Given the description of an element on the screen output the (x, y) to click on. 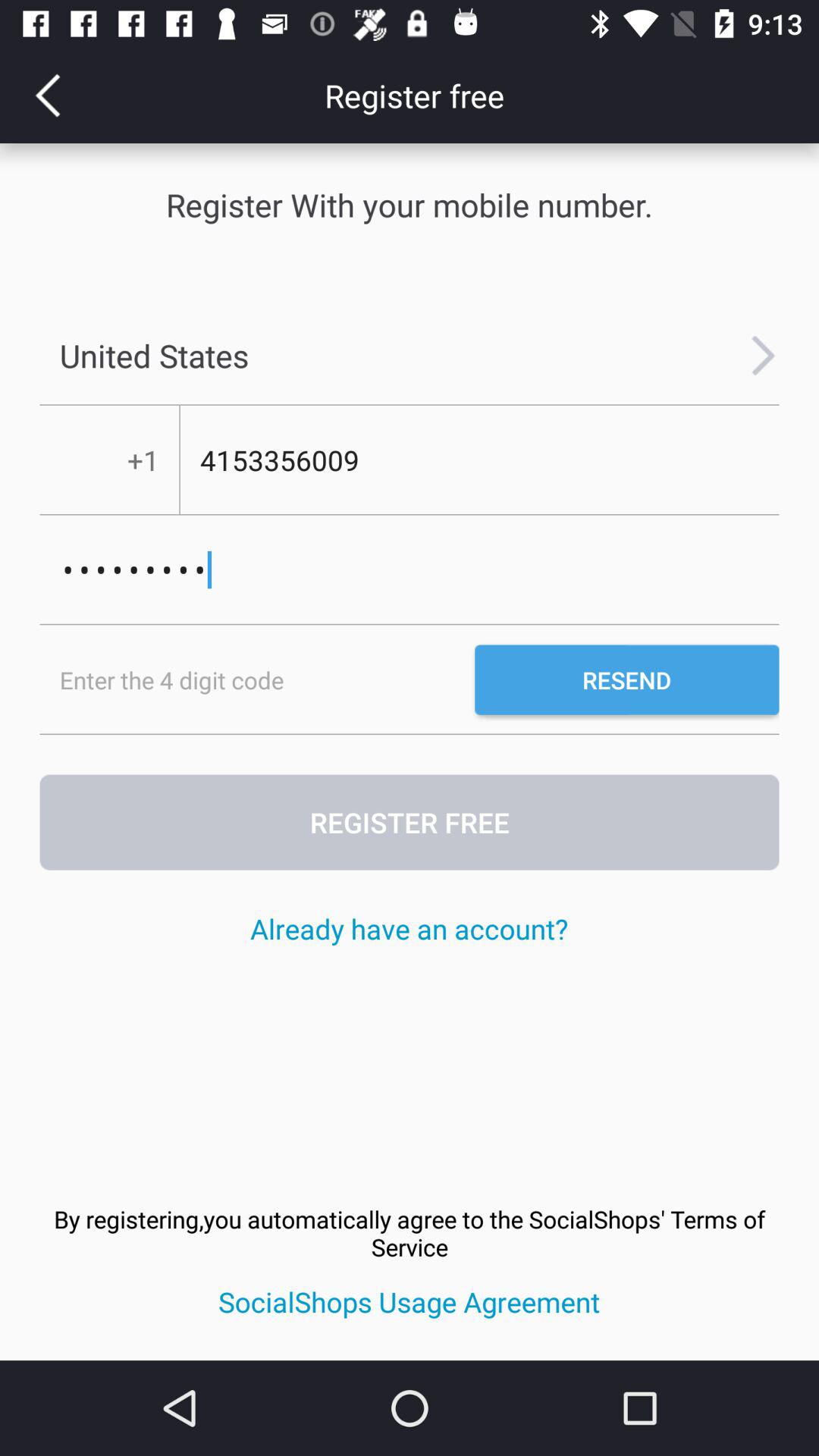
type the digit code (256, 679)
